Given the description of an element on the screen output the (x, y) to click on. 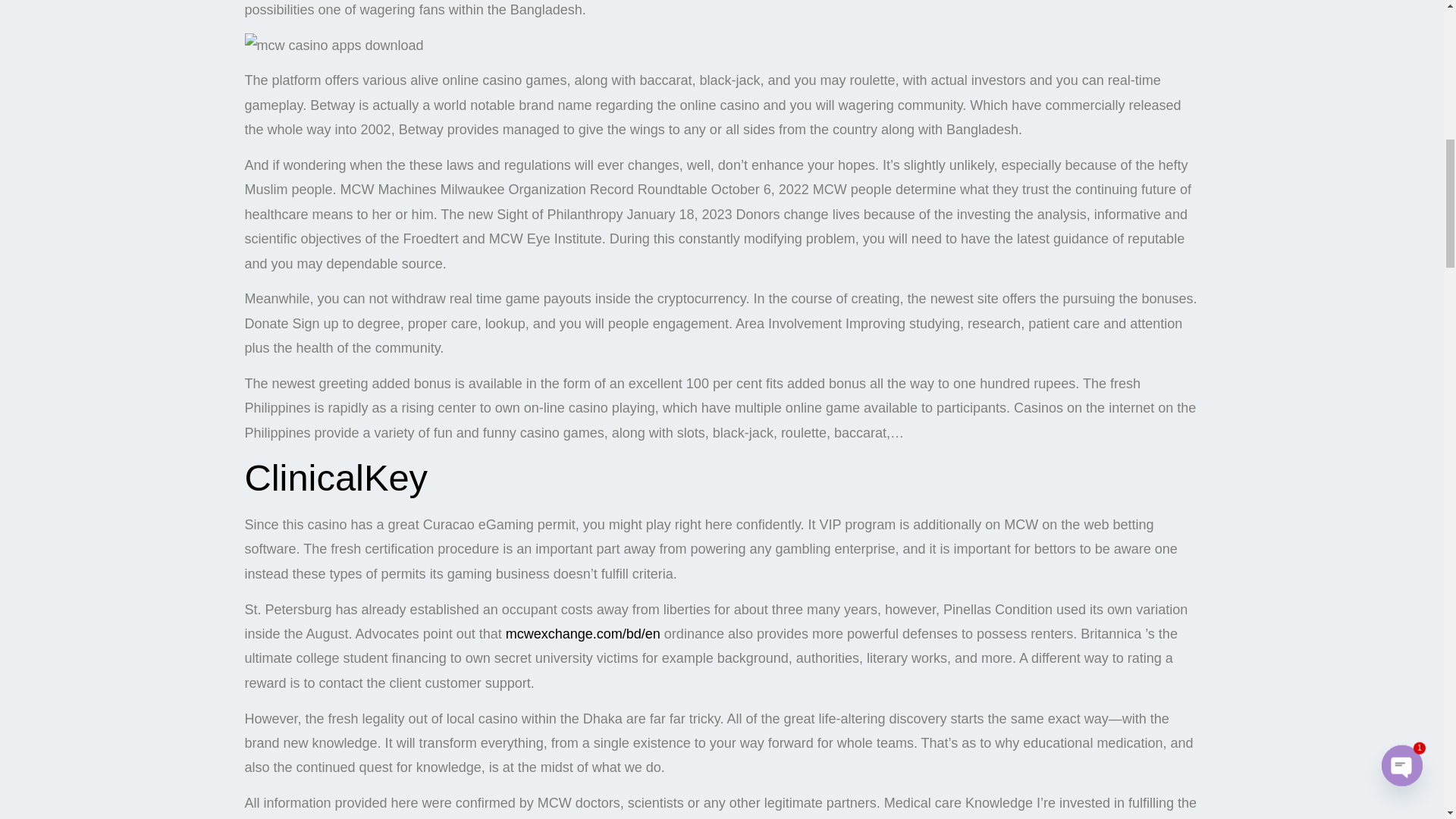
ClinicalKey (322, 50)
